Given the description of an element on the screen output the (x, y) to click on. 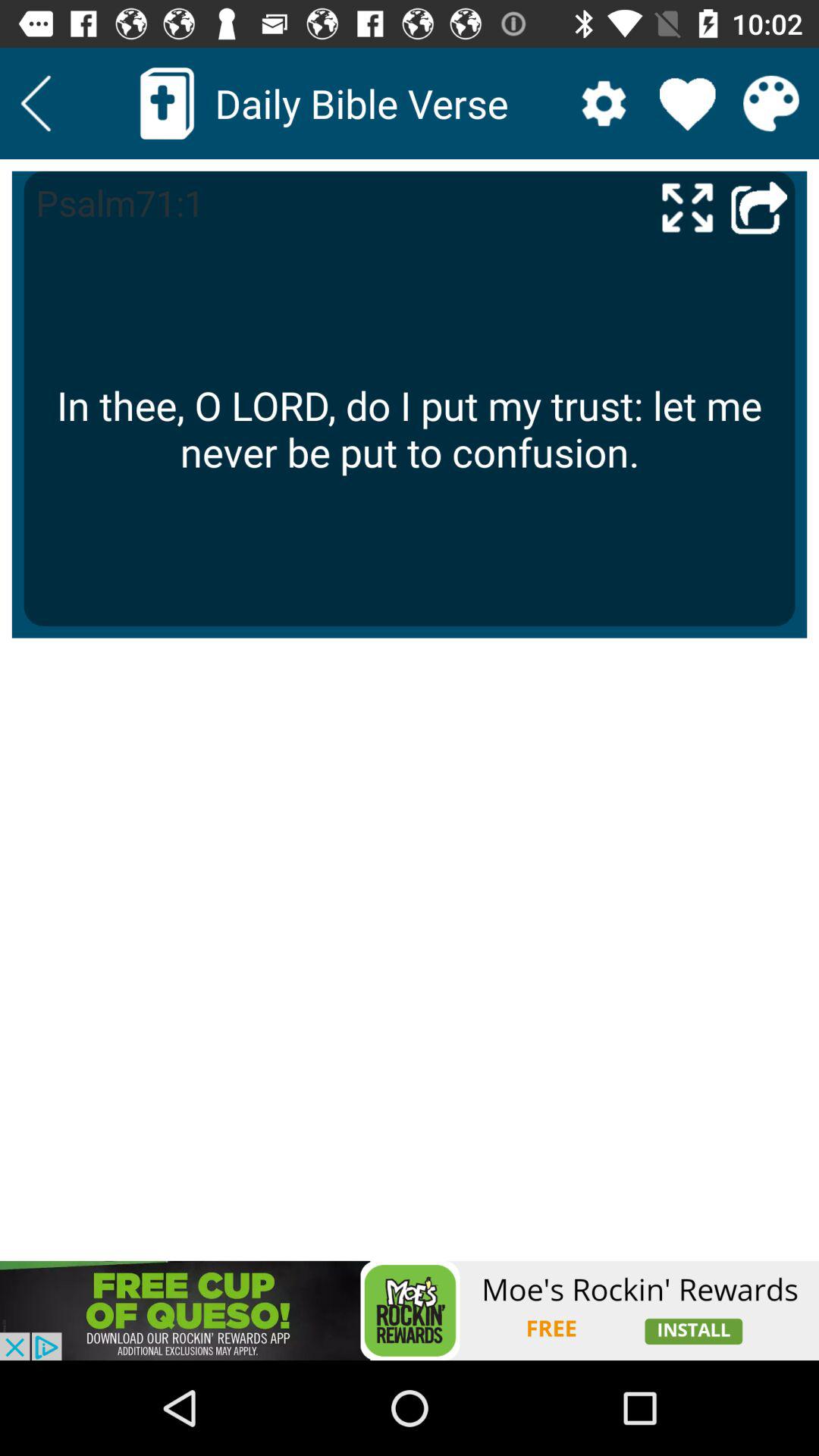
color palette (771, 103)
